Given the description of an element on the screen output the (x, y) to click on. 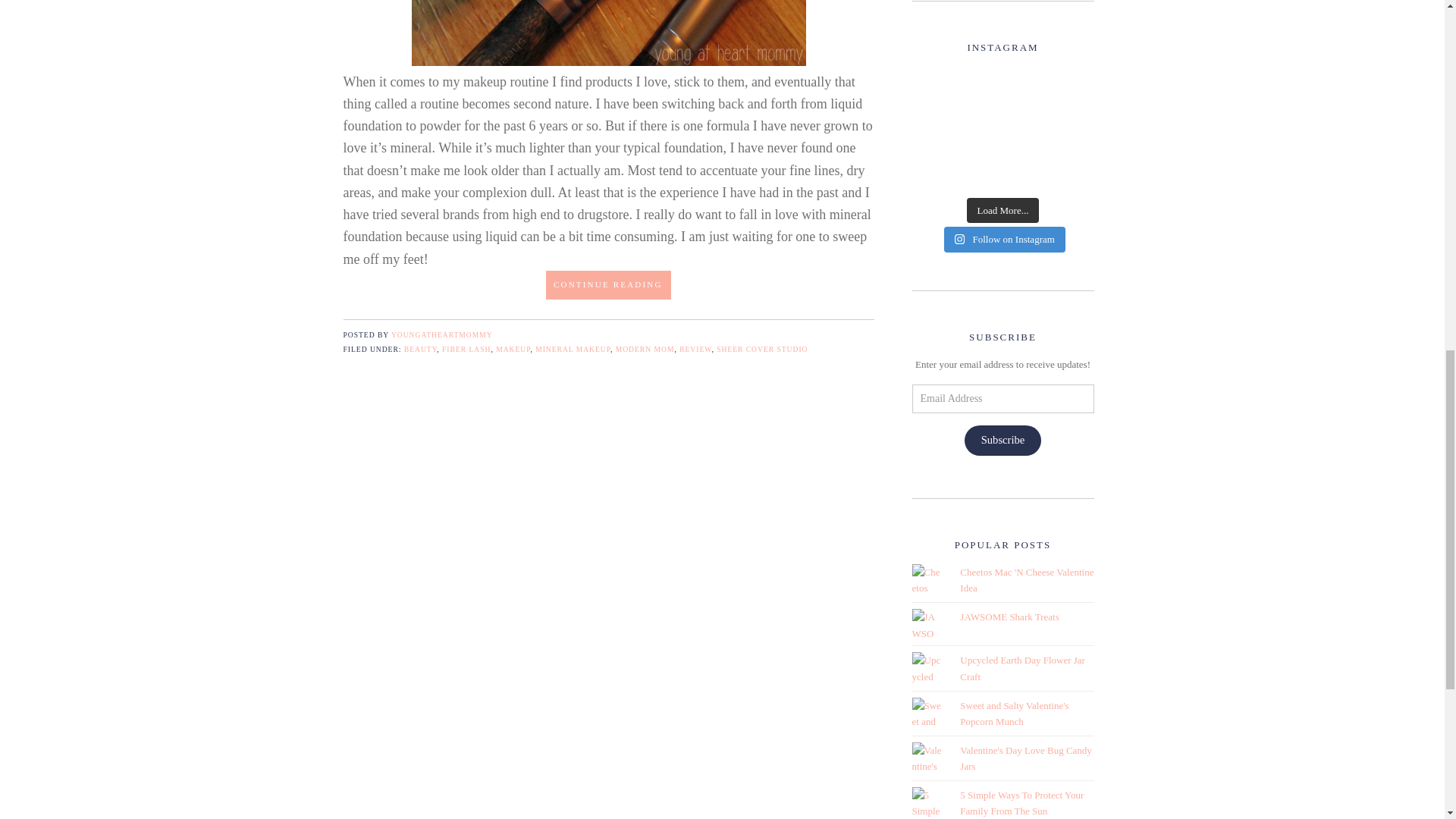
MAKEUP (512, 348)
SHEER COVER STUDIO (762, 348)
REVIEW (695, 348)
CONTINUE READING (608, 285)
MINERAL MAKEUP (572, 348)
Cheetos Mac 'N Cheese Valentine Idea (1026, 579)
JAWSOME Shark Treats (1008, 616)
Upcycled Earth Day Flower Jar Craft (1021, 667)
BEAUTY (421, 348)
YOUNGATHEARTMOMMY (442, 334)
Sweet and Salty Valentine's Popcorn Munch (1013, 713)
MODERN MOM (645, 348)
FIBER LASH (466, 348)
Valentine's Day Love Bug Candy Jars (1024, 758)
